Given the description of an element on the screen output the (x, y) to click on. 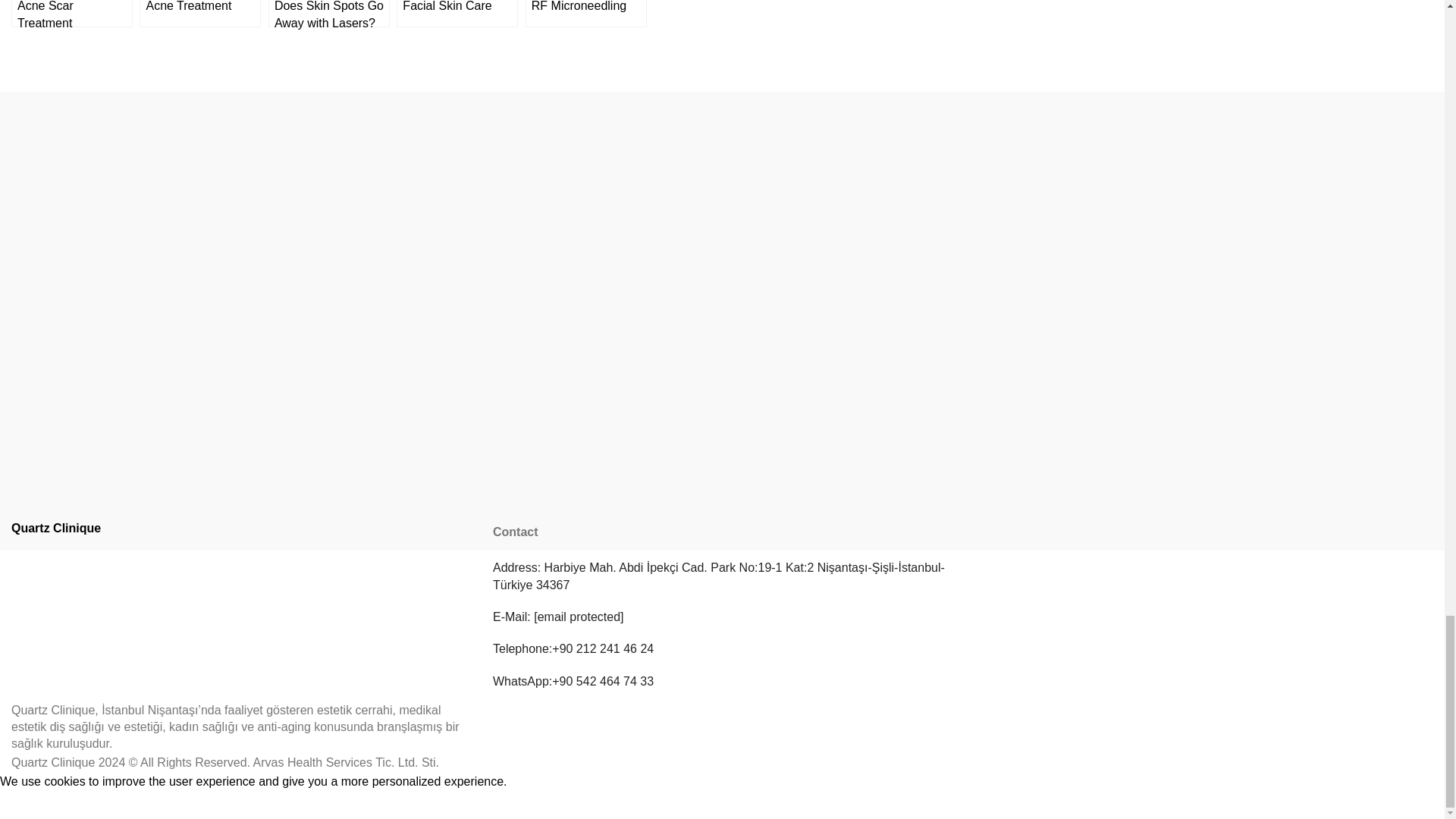
Acne Scar Treatment (71, 13)
Acne Treatment (199, 13)
Does Skin Spots Go Away with Lasers? (328, 13)
RF Microneedling (585, 13)
Facial Skin Care (457, 13)
